Given the description of an element on the screen output the (x, y) to click on. 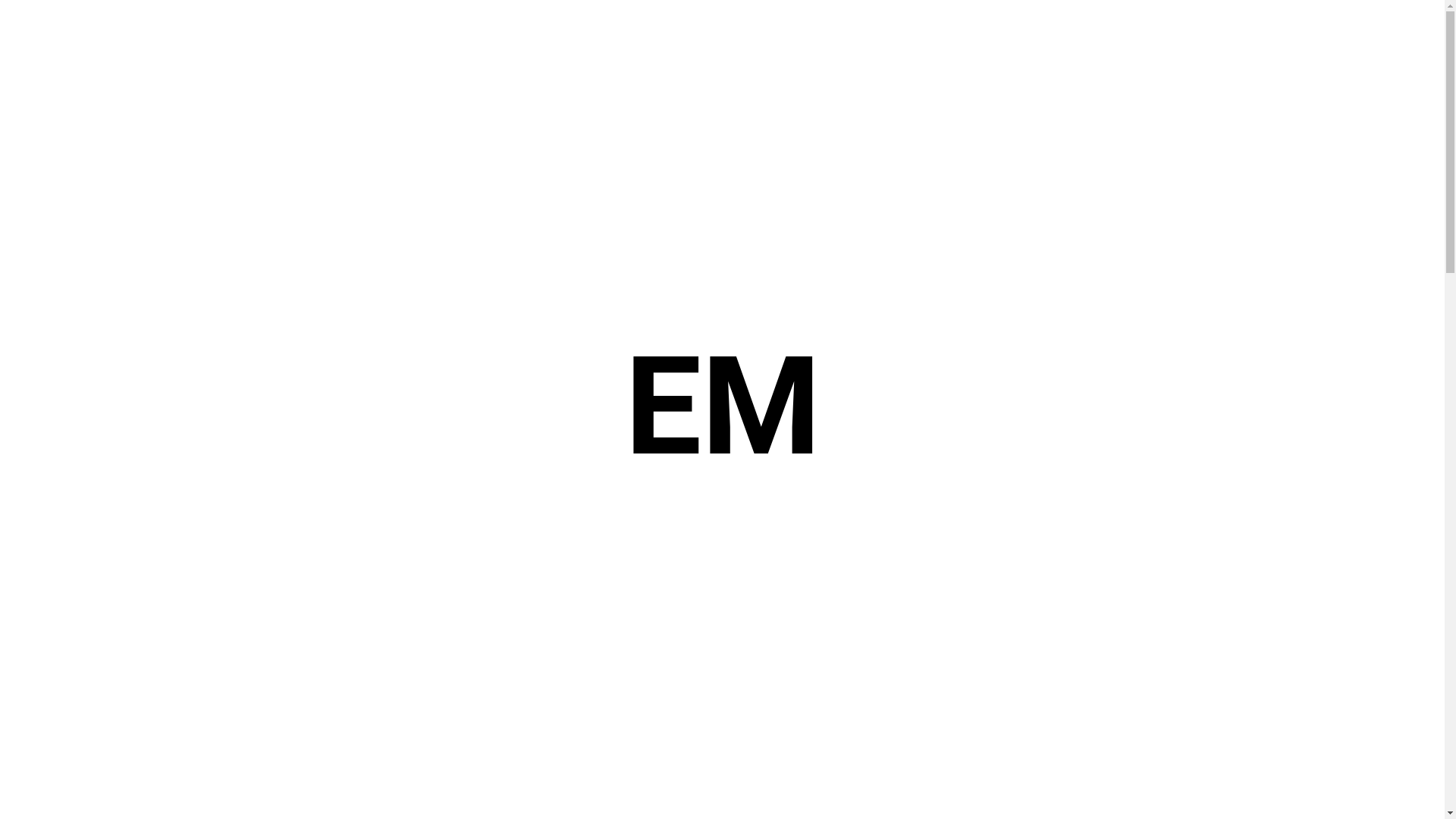
My Cart Element type: text (1349, 33)
